Given the description of an element on the screen output the (x, y) to click on. 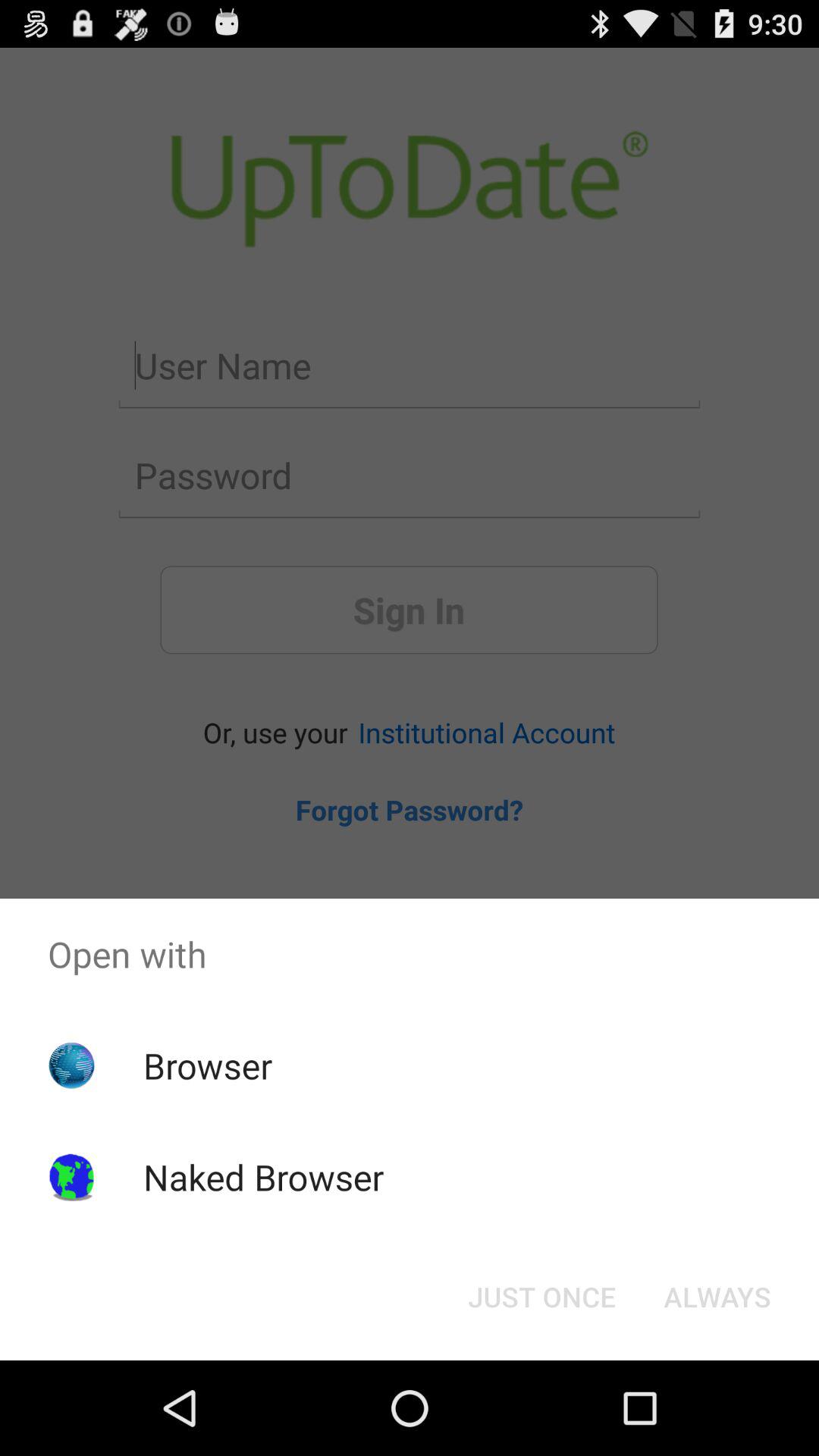
turn on the naked browser (263, 1176)
